Given the description of an element on the screen output the (x, y) to click on. 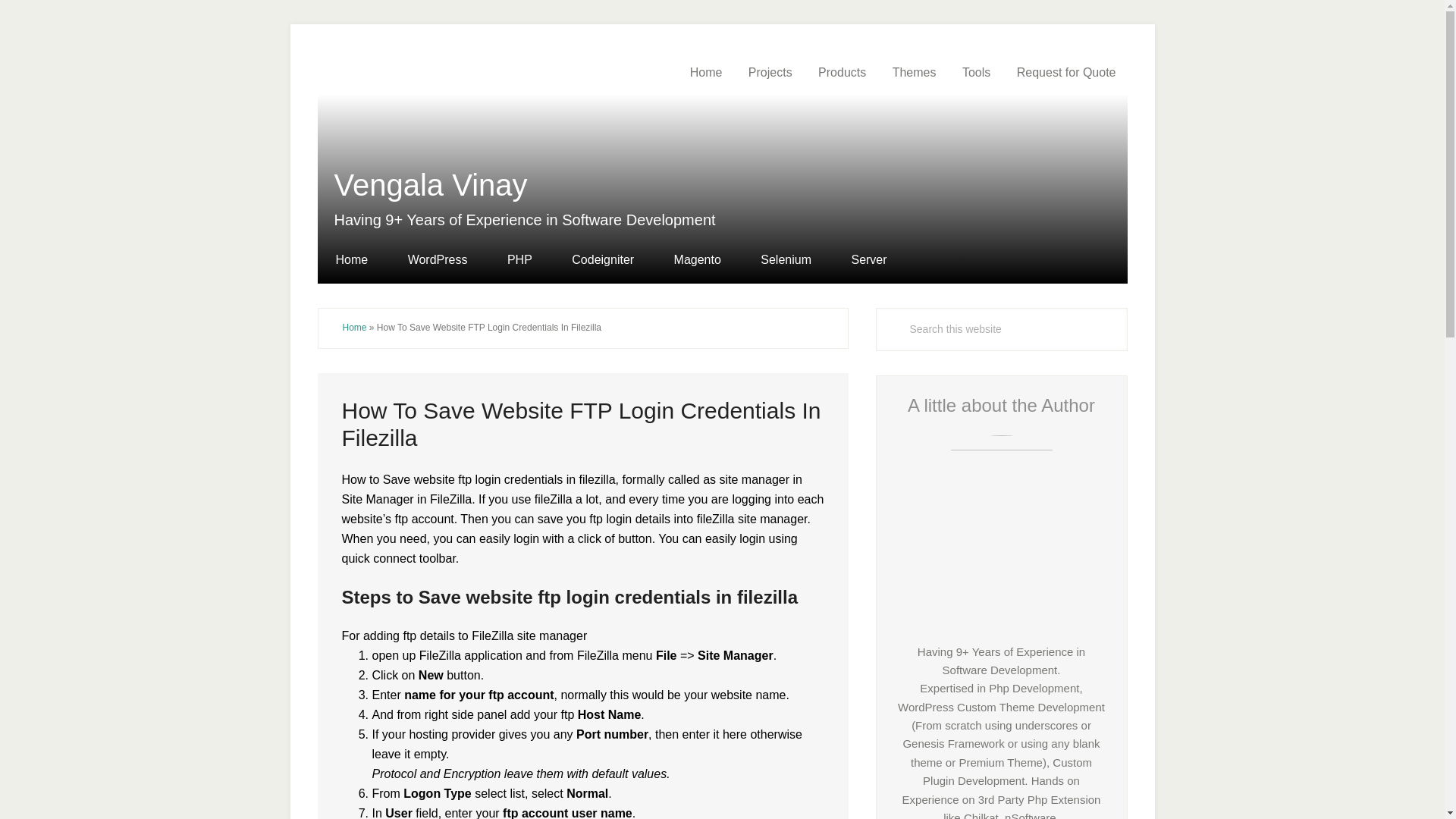
Projects (769, 72)
Selenium (785, 260)
Home (705, 72)
Themes (913, 72)
PHP (519, 260)
Home (359, 260)
Products (841, 72)
Magento (697, 260)
Tools (975, 72)
